Given the description of an element on the screen output the (x, y) to click on. 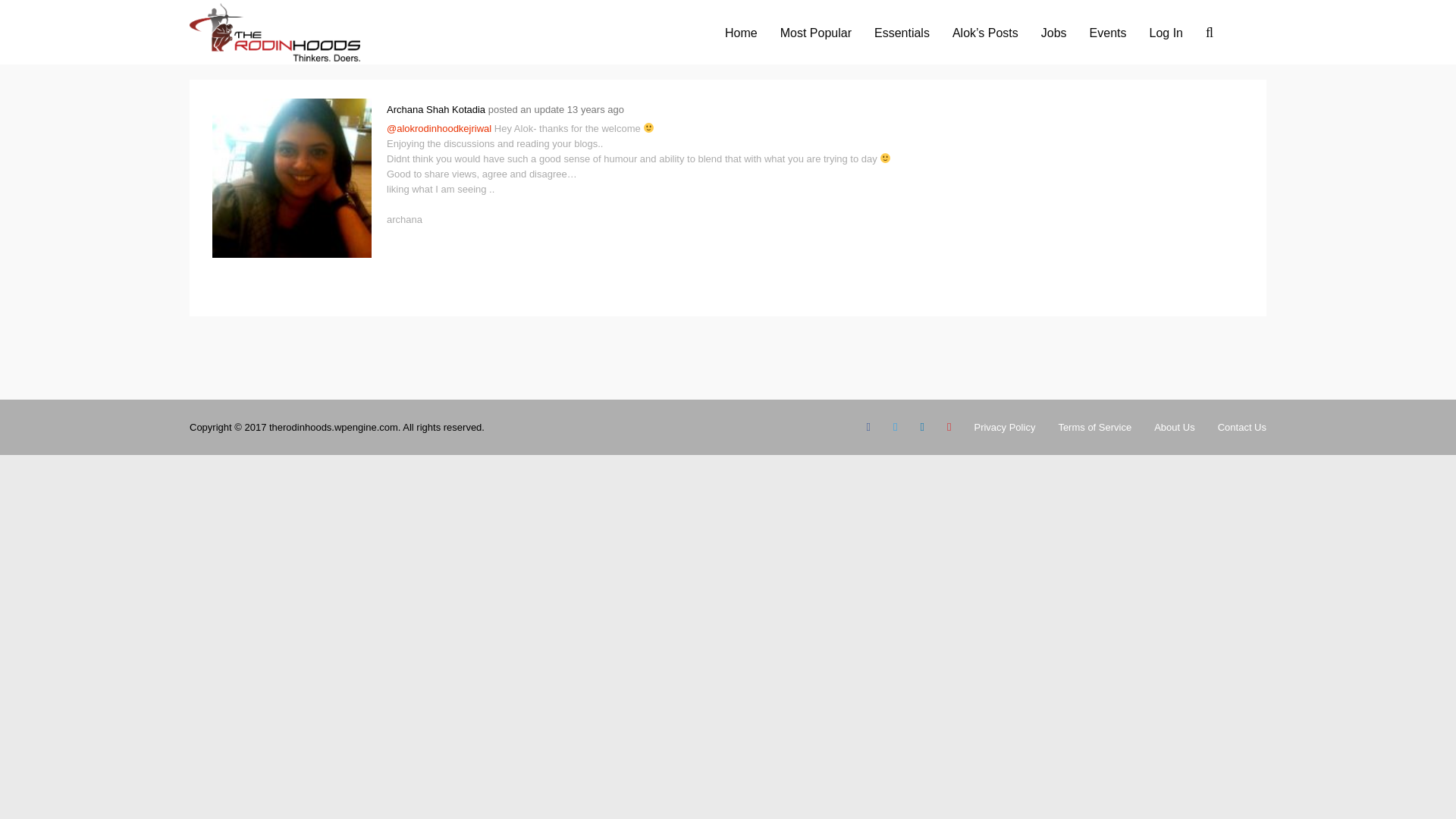
Contact Us (1241, 427)
Archana Shah Kotadia (435, 109)
TheRodinhoods (274, 58)
Terms of Service (1094, 427)
Privacy Policy (1004, 427)
Most Popular (815, 32)
About Us (1173, 427)
